Given the description of an element on the screen output the (x, y) to click on. 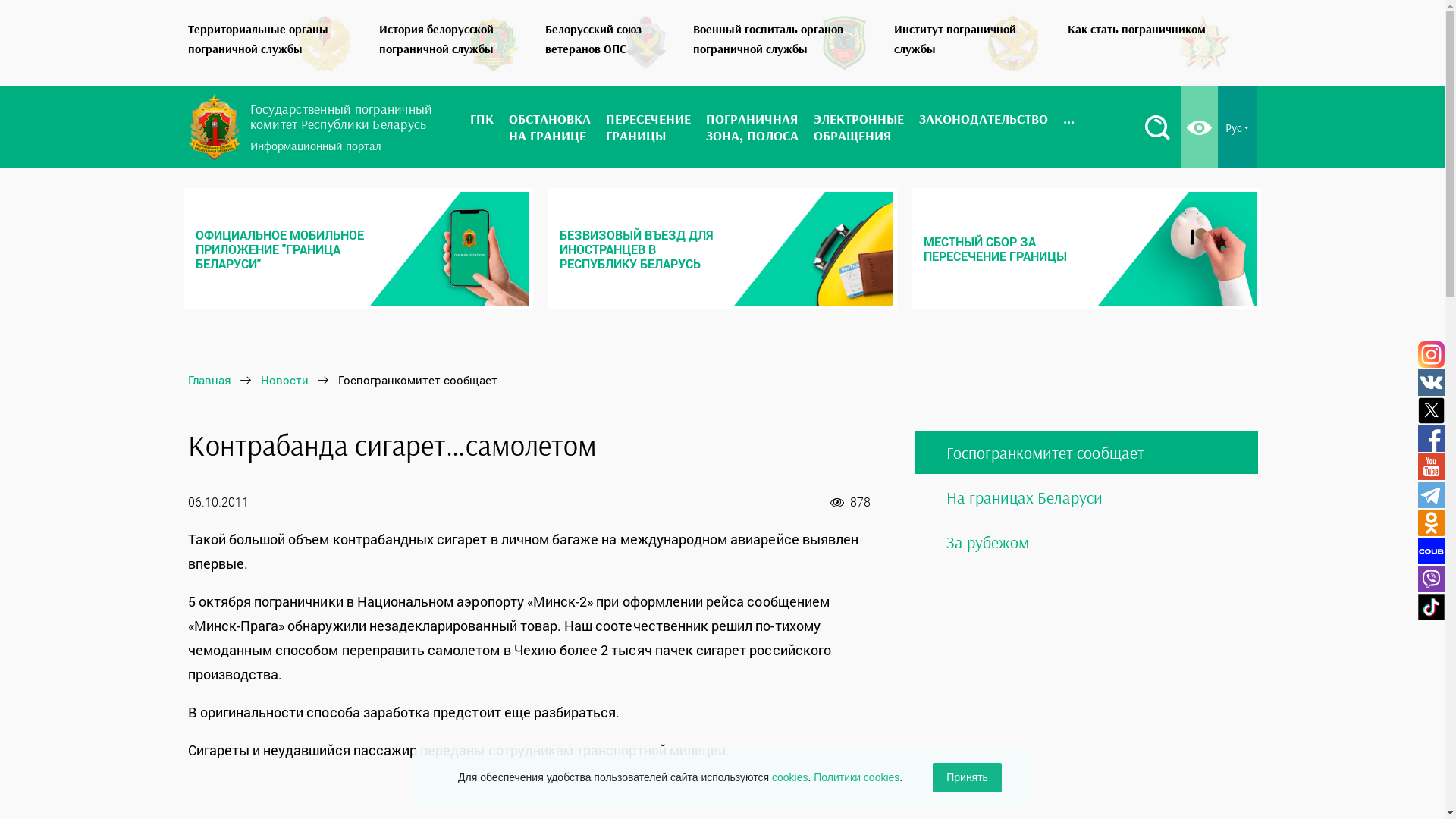
cookies Element type: text (789, 777)
... Element type: text (1068, 127)
